Given the description of an element on the screen output the (x, y) to click on. 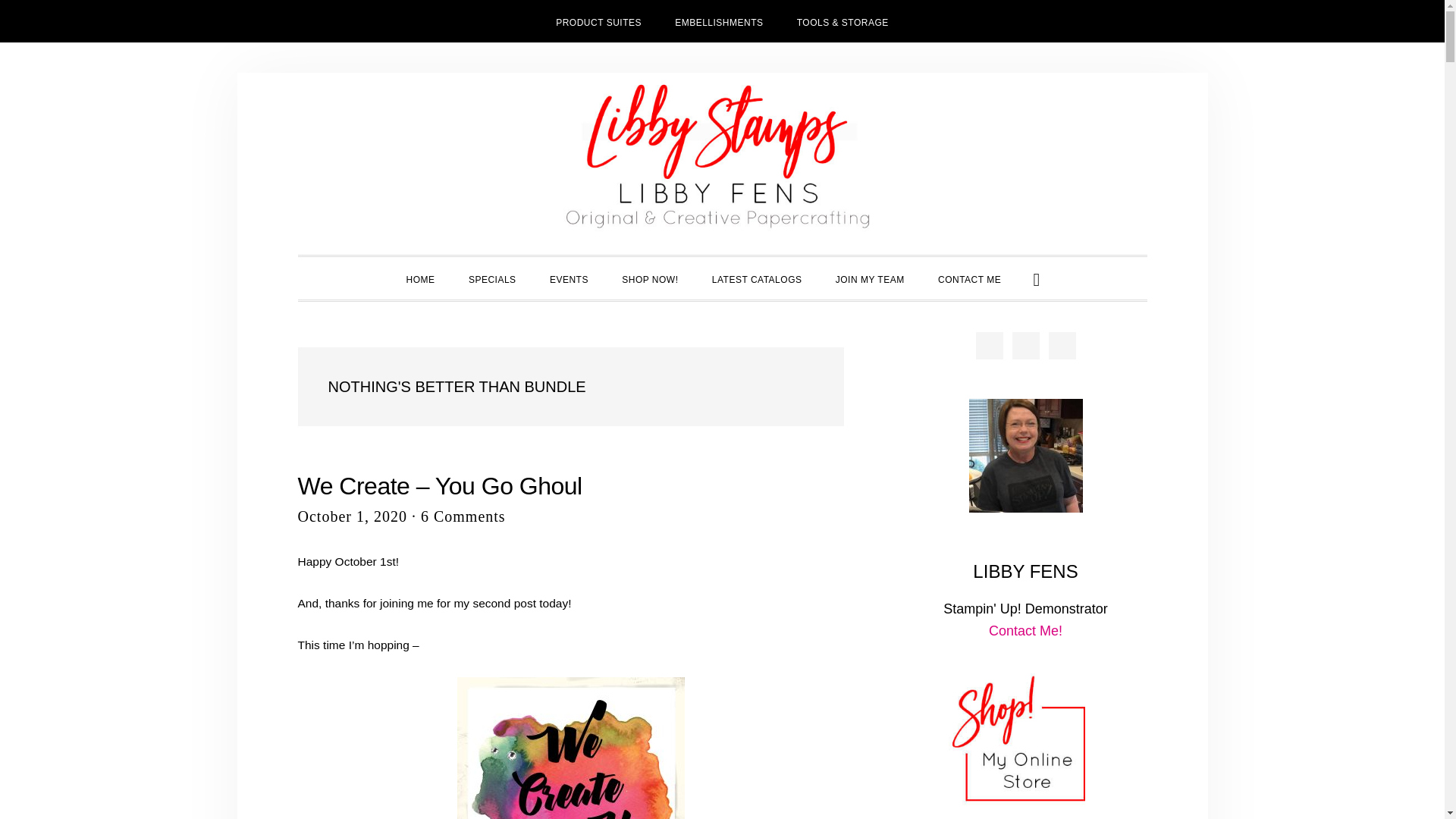
PRODUCT SUITES (598, 21)
EVENTS (569, 278)
CONTACT ME (969, 278)
SPECIALS (491, 278)
LATEST CATALOGS (756, 278)
6 Comments (462, 515)
EMBELLISHMENTS (718, 21)
HOME (420, 278)
SHOP NOW! (650, 278)
